Given the description of an element on the screen output the (x, y) to click on. 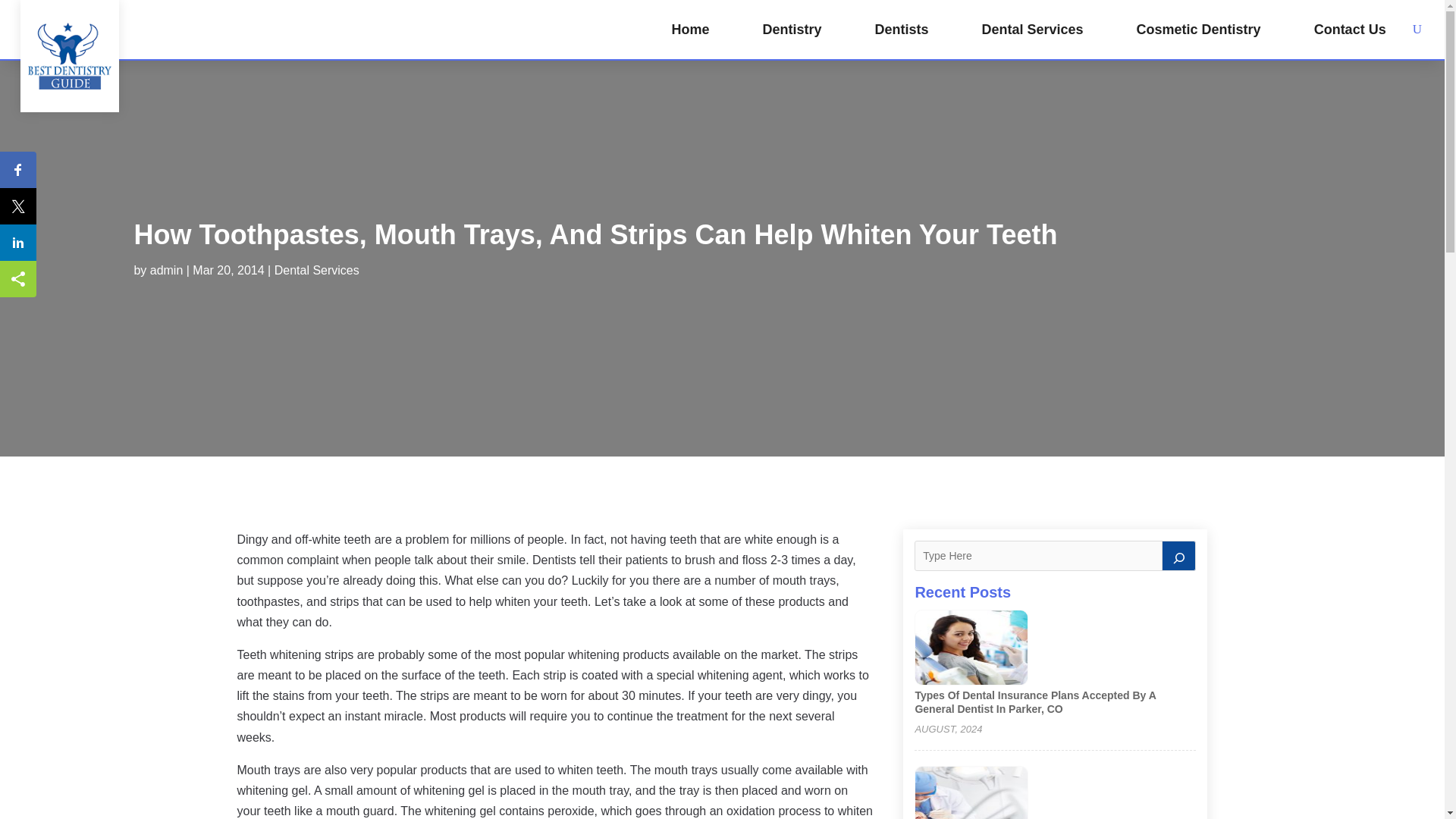
admin (166, 269)
Dentistry (791, 29)
Dental Services (317, 269)
Contact Us (1350, 29)
Dental Services (1032, 29)
Cosmetic Dentistry (1198, 29)
Posts by admin (166, 269)
Dentists (901, 29)
